Given the description of an element on the screen output the (x, y) to click on. 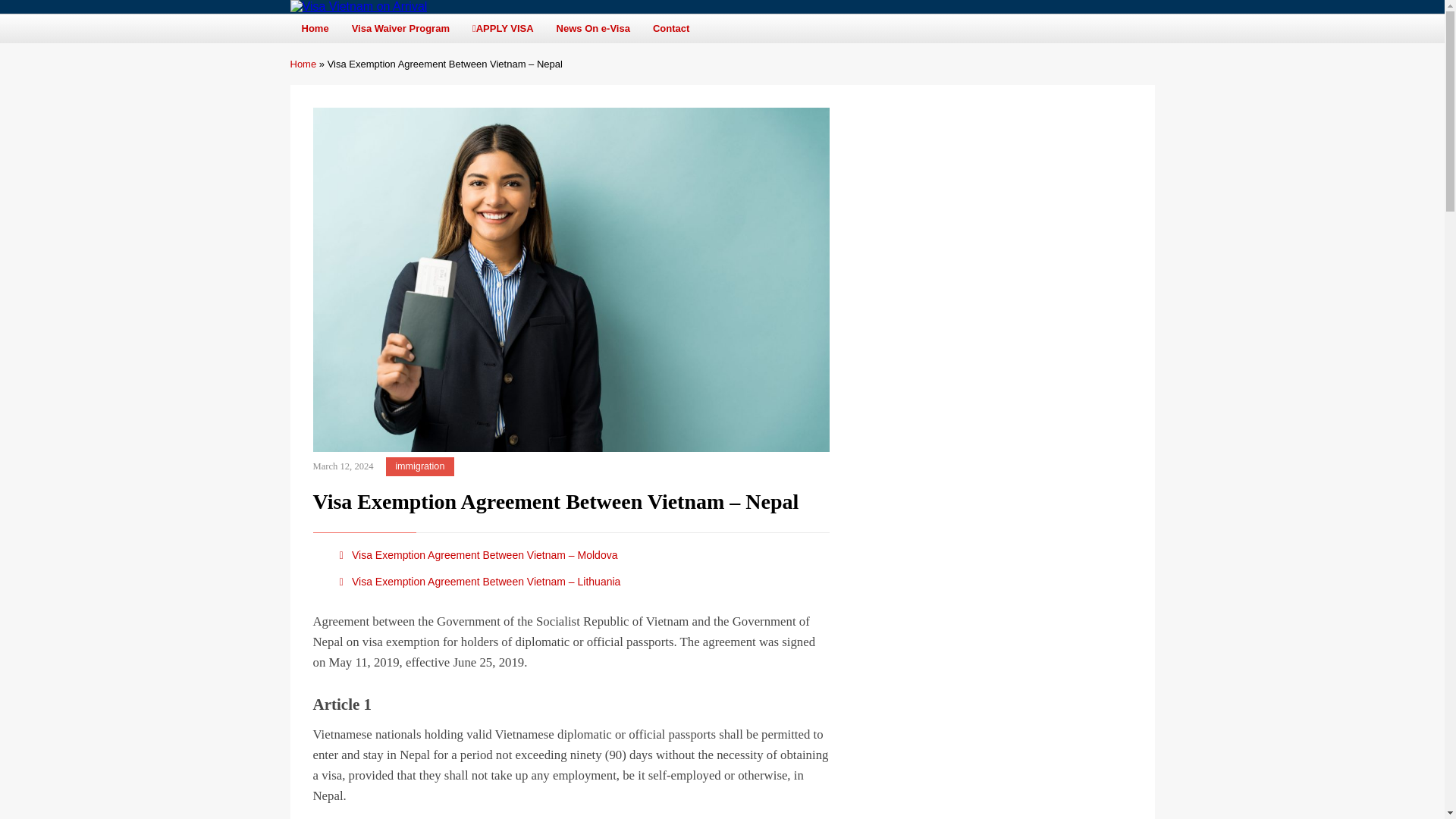
Contact (671, 28)
immigration (419, 466)
Home (314, 28)
Visa Waiver Program (400, 28)
News On e-Visa (593, 28)
Home (302, 63)
